Given the description of an element on the screen output the (x, y) to click on. 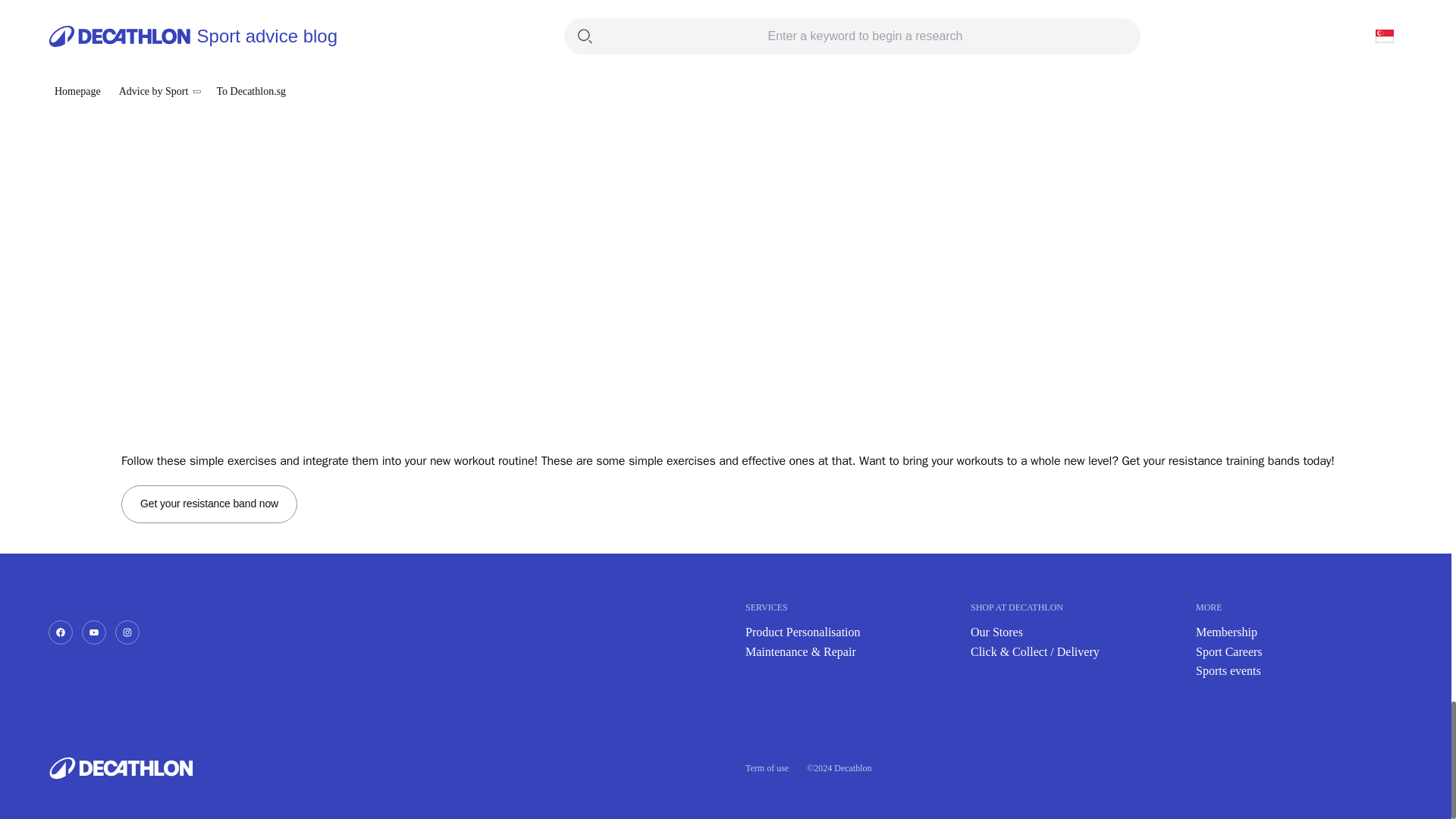
Get your resistance band now (208, 504)
Product Personalisation (802, 631)
Term of use (767, 767)
Sport Careers (1228, 651)
Sports events (1227, 670)
Our Stores (997, 631)
Membership (1226, 631)
